Given the description of an element on the screen output the (x, y) to click on. 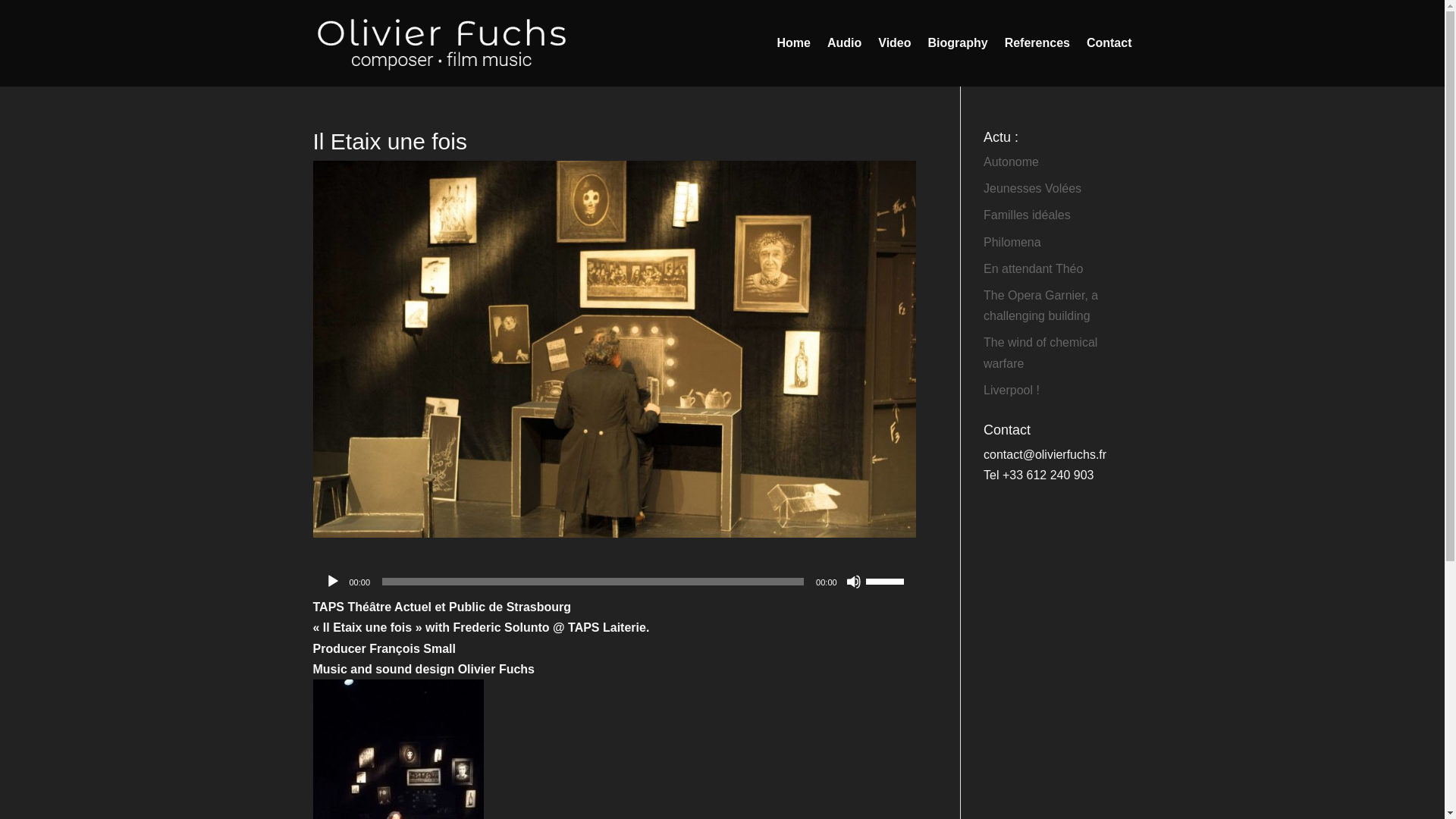
The wind of chemical warfare (1040, 352)
Philomena (1012, 241)
Muet (853, 581)
References (1037, 61)
Liverpool ! (1011, 390)
Autonome (1011, 161)
Contact (1109, 61)
Lecture (331, 581)
Biography (958, 61)
The Opera Garnier, a challenging building (1040, 305)
